Given the description of an element on the screen output the (x, y) to click on. 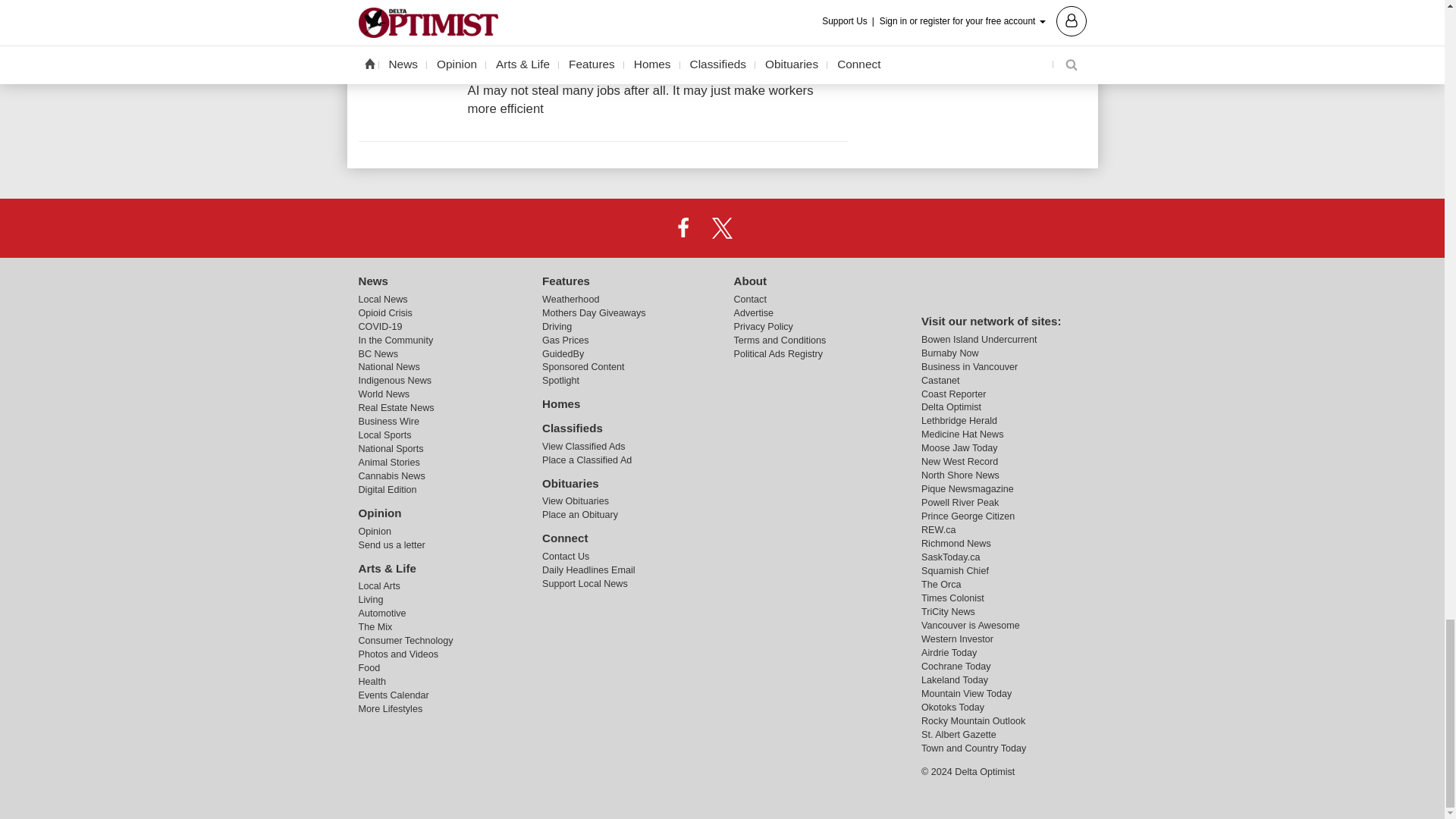
Instagram (760, 226)
Facebook (683, 226)
X (721, 226)
